Given the description of an element on the screen output the (x, y) to click on. 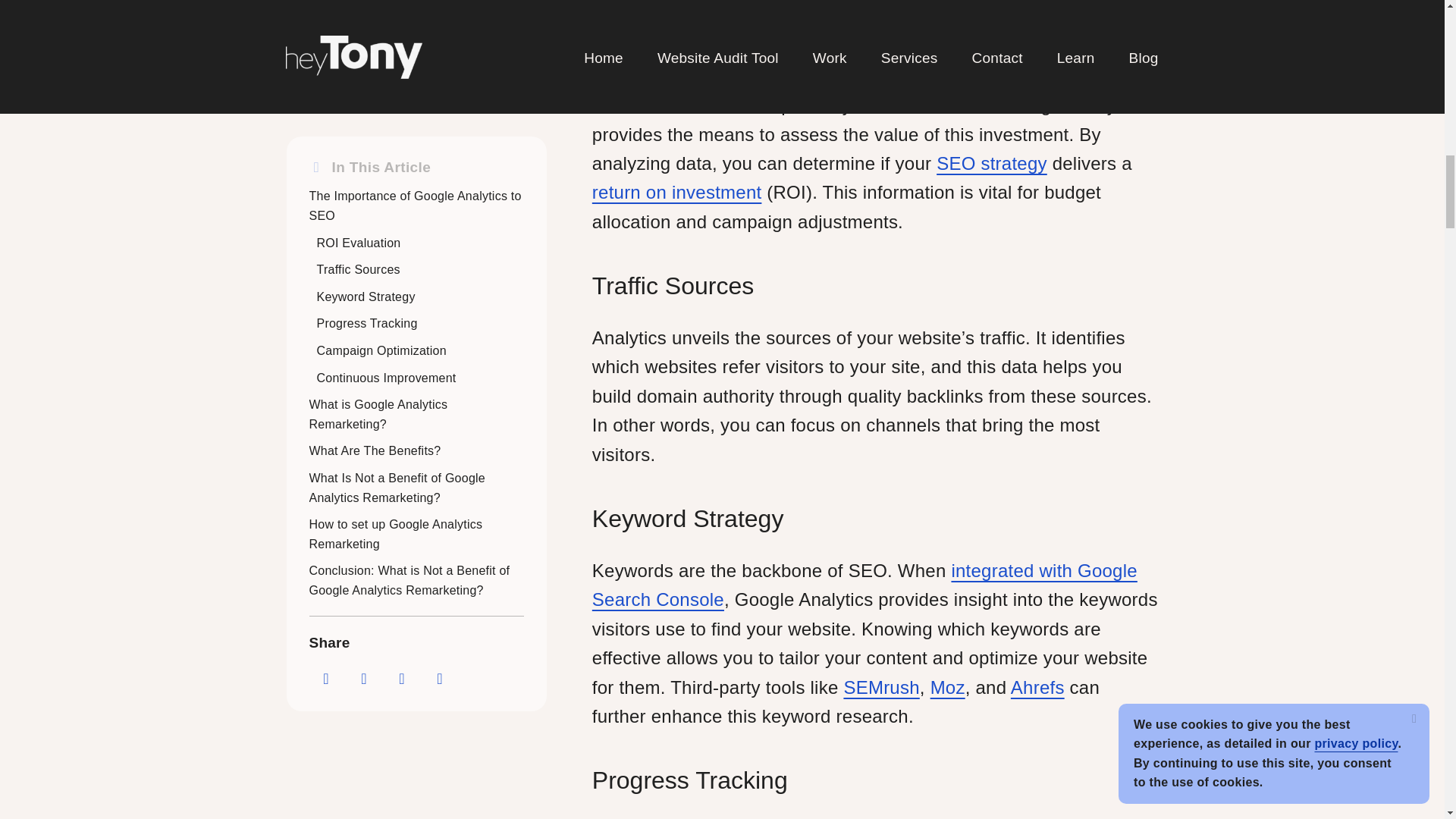
SEMrush (880, 687)
SEO strategy (991, 163)
return on investment (676, 191)
integrated with Google Search Console (864, 584)
Moz (947, 687)
